Given the description of an element on the screen output the (x, y) to click on. 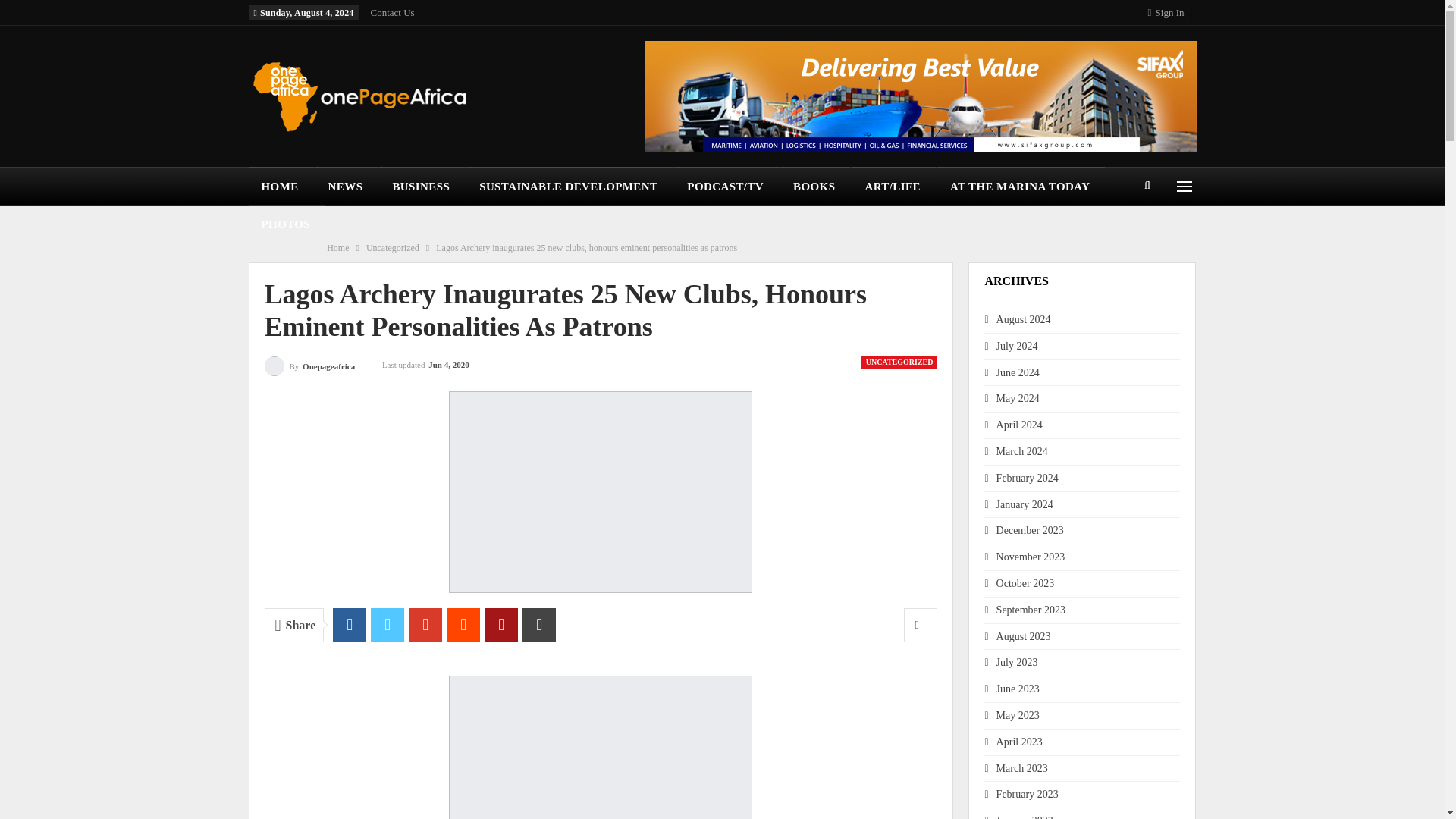
Home (337, 247)
AT THE MARINA TODAY (1021, 186)
HOME (281, 186)
PHOTOS (287, 224)
UNCATEGORIZED (899, 362)
Sign In (1169, 12)
Uncategorized (392, 247)
Contact Us (392, 12)
BUSINESS (421, 186)
NEWS (346, 186)
By Onepageafrica (309, 364)
Browse Author Articles (309, 364)
SUSTAINABLE DEVELOPMENT (568, 186)
BOOKS (815, 186)
